Given the description of an element on the screen output the (x, y) to click on. 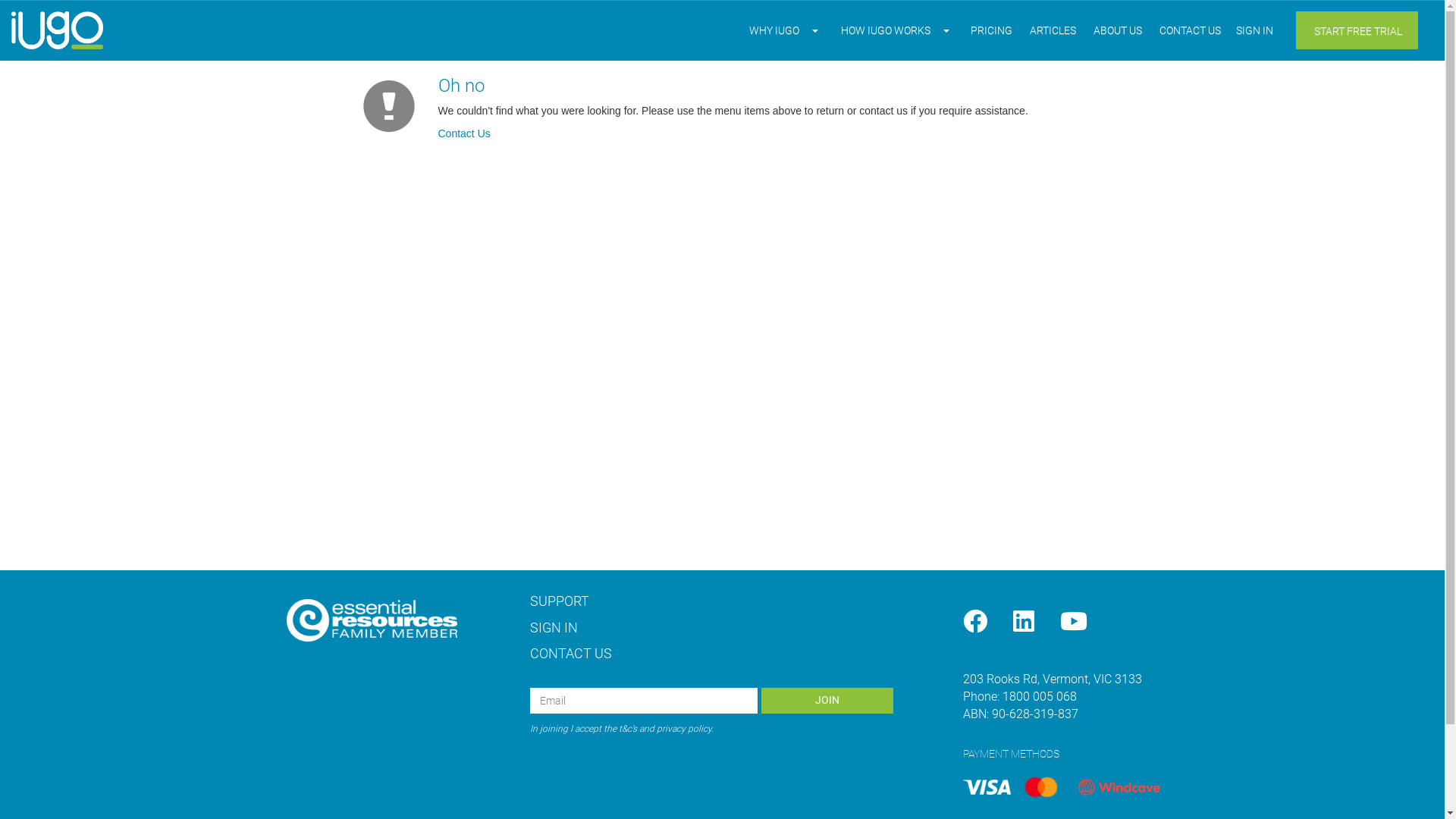
SIGN IN Element type: text (553, 627)
SIGN IN Element type: text (1256, 30)
ARTICLES Element type: text (1053, 30)
ABOUT US Element type: text (1118, 30)
LinkedIn Element type: hover (1023, 621)
Contact Us Element type: text (464, 133)
Facebook Element type: hover (975, 621)
YouTube Element type: hover (1073, 621)
WHY IUGO Element type: text (775, 30)
CONTACT US Element type: text (1190, 30)
PRICING Element type: text (992, 30)
START FREE TRIAL Element type: text (1356, 30)
HOW IUGO WORKS Element type: text (887, 30)
CONTACT US Element type: text (570, 653)
JOIN Element type: text (827, 700)
1800 005 068 Element type: text (1039, 696)
SUPPORT Element type: text (559, 600)
